Given the description of an element on the screen output the (x, y) to click on. 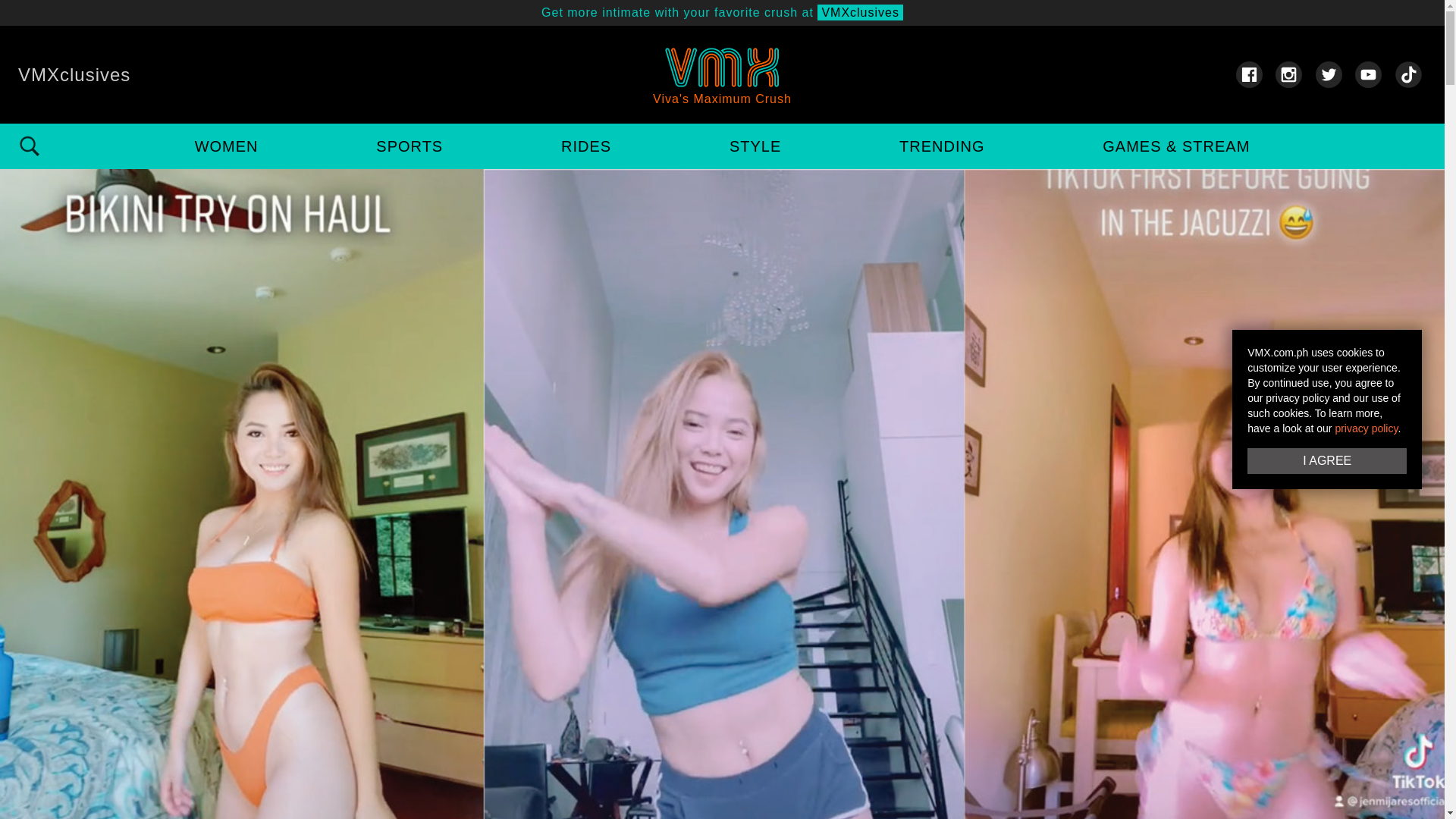
Facebook (1248, 73)
Get more intimate with your favorite crush at VMXclusives (721, 12)
STYLE (755, 146)
RIDES (585, 146)
VMXclusives (74, 73)
VMXclusives (74, 73)
WOMEN (227, 146)
SPORTS (408, 146)
Viva's Maximum Crush (722, 74)
VMX :Viva's Maximum Crush (722, 74)
VMXclusives (721, 12)
TRENDING (941, 146)
